Given the description of an element on the screen output the (x, y) to click on. 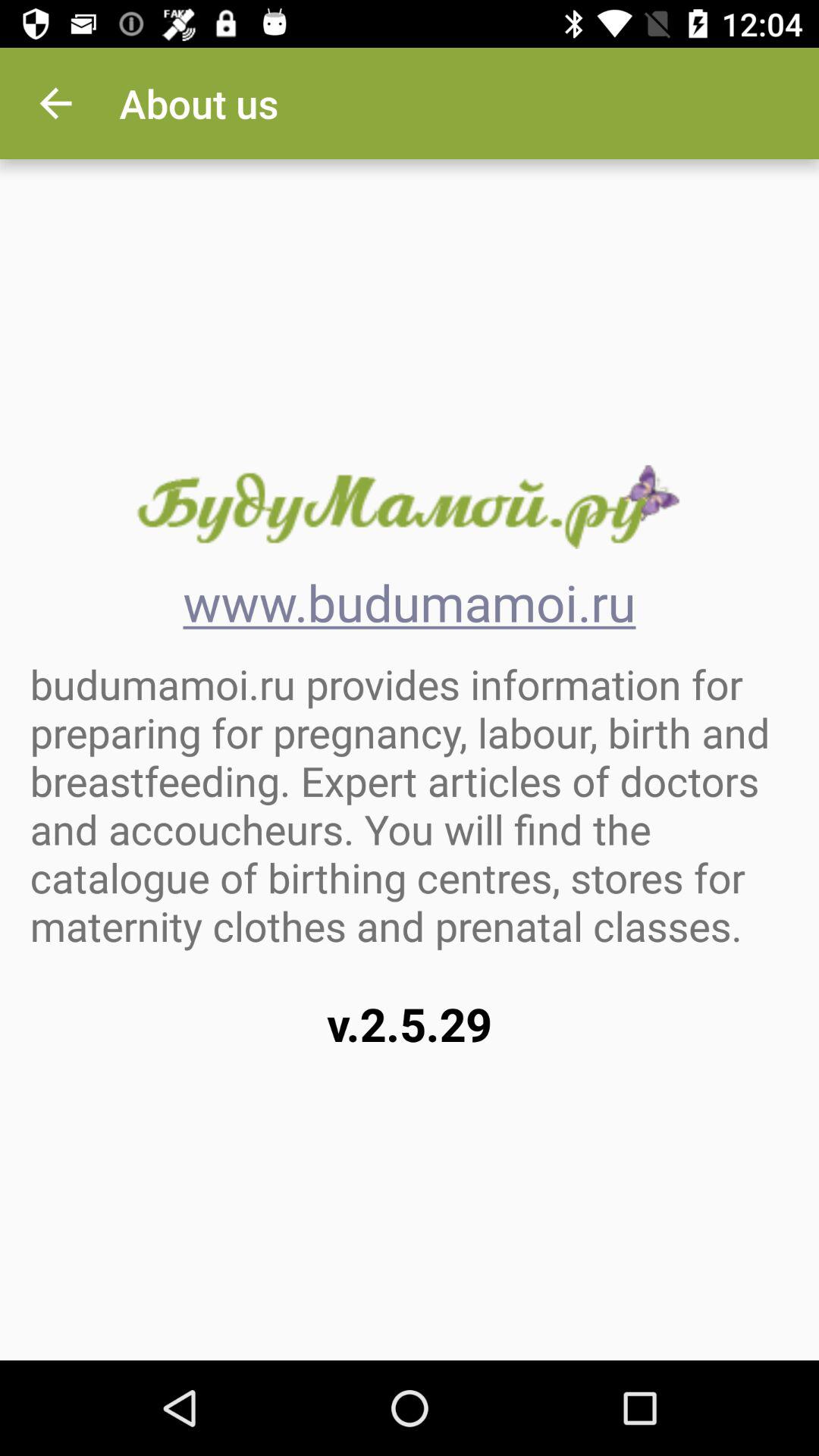
press the item next to the about us icon (55, 103)
